Given the description of an element on the screen output the (x, y) to click on. 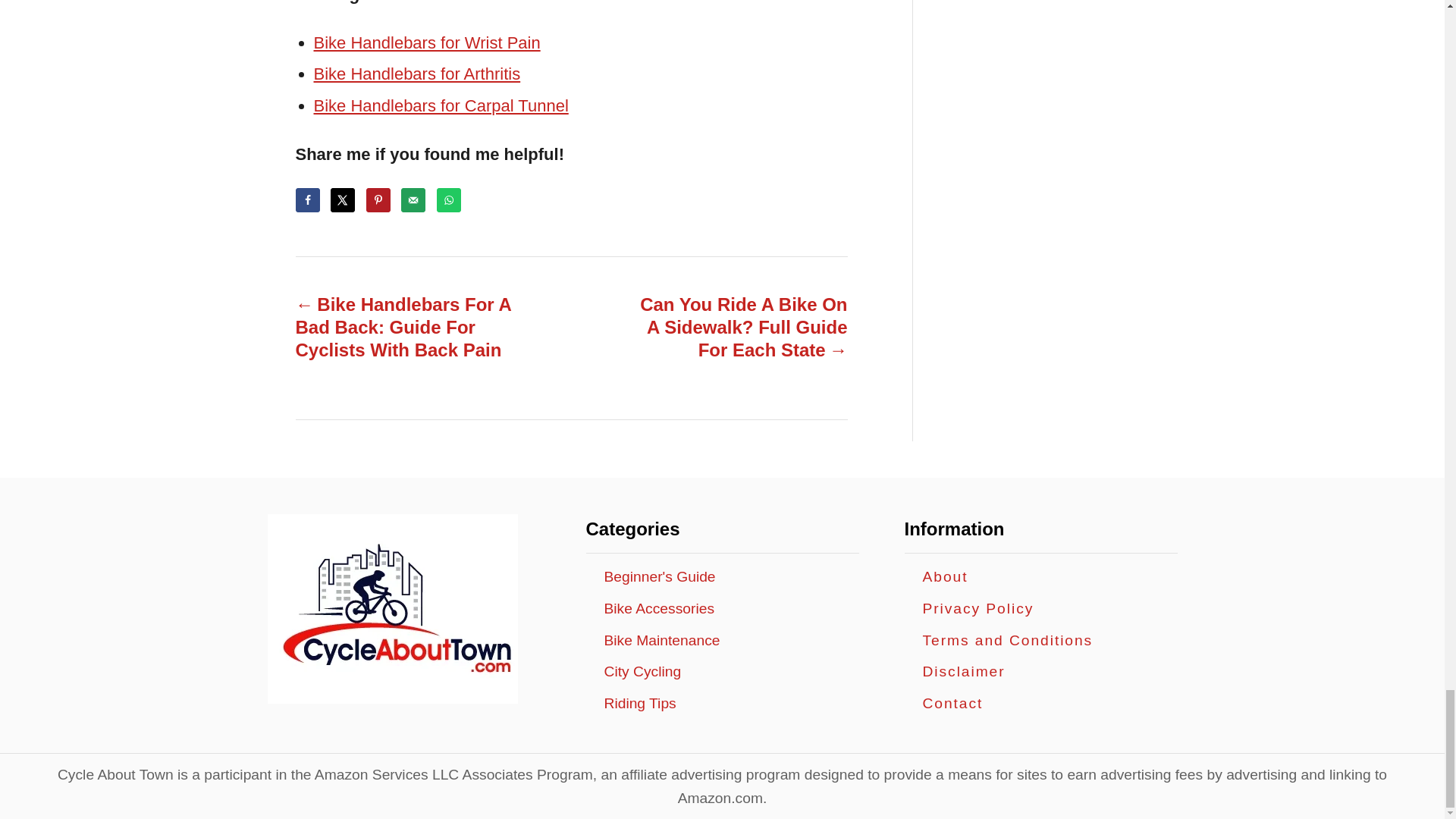
Share on Facebook (307, 200)
Bike Handlebars for Arthritis (417, 73)
Can You Ride A Bike On A Sidewalk? Full Guide For Each State (736, 327)
Bike Handlebars for Wrist Pain (427, 42)
Bike Handlebars for Carpal Tunnel (441, 105)
Save to Pinterest (378, 200)
Share on WhatsApp (448, 200)
Send over email (413, 200)
Share on X (342, 200)
